Given the description of an element on the screen output the (x, y) to click on. 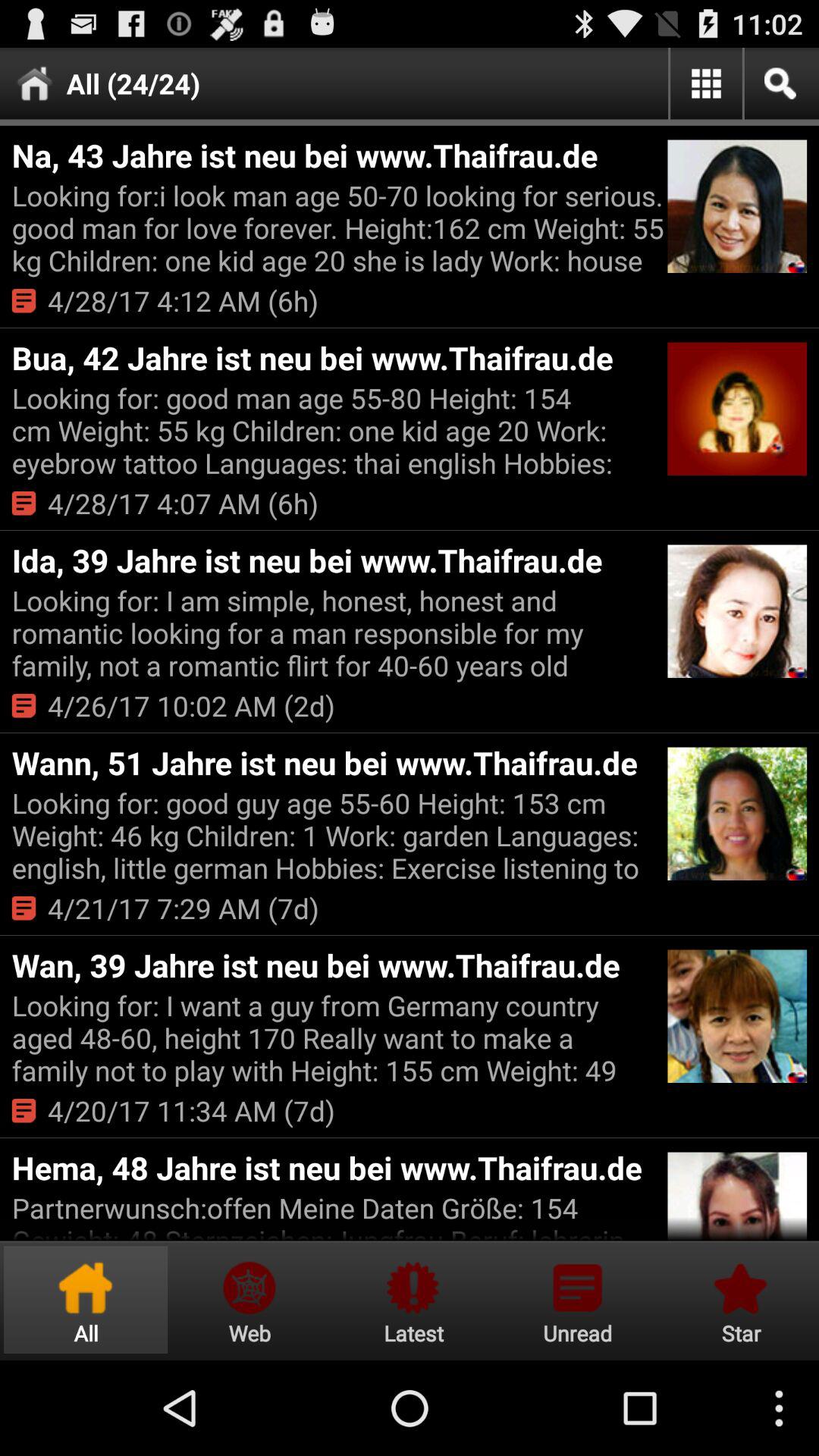
toggle a star rating button (739, 1299)
